Given the description of an element on the screen output the (x, y) to click on. 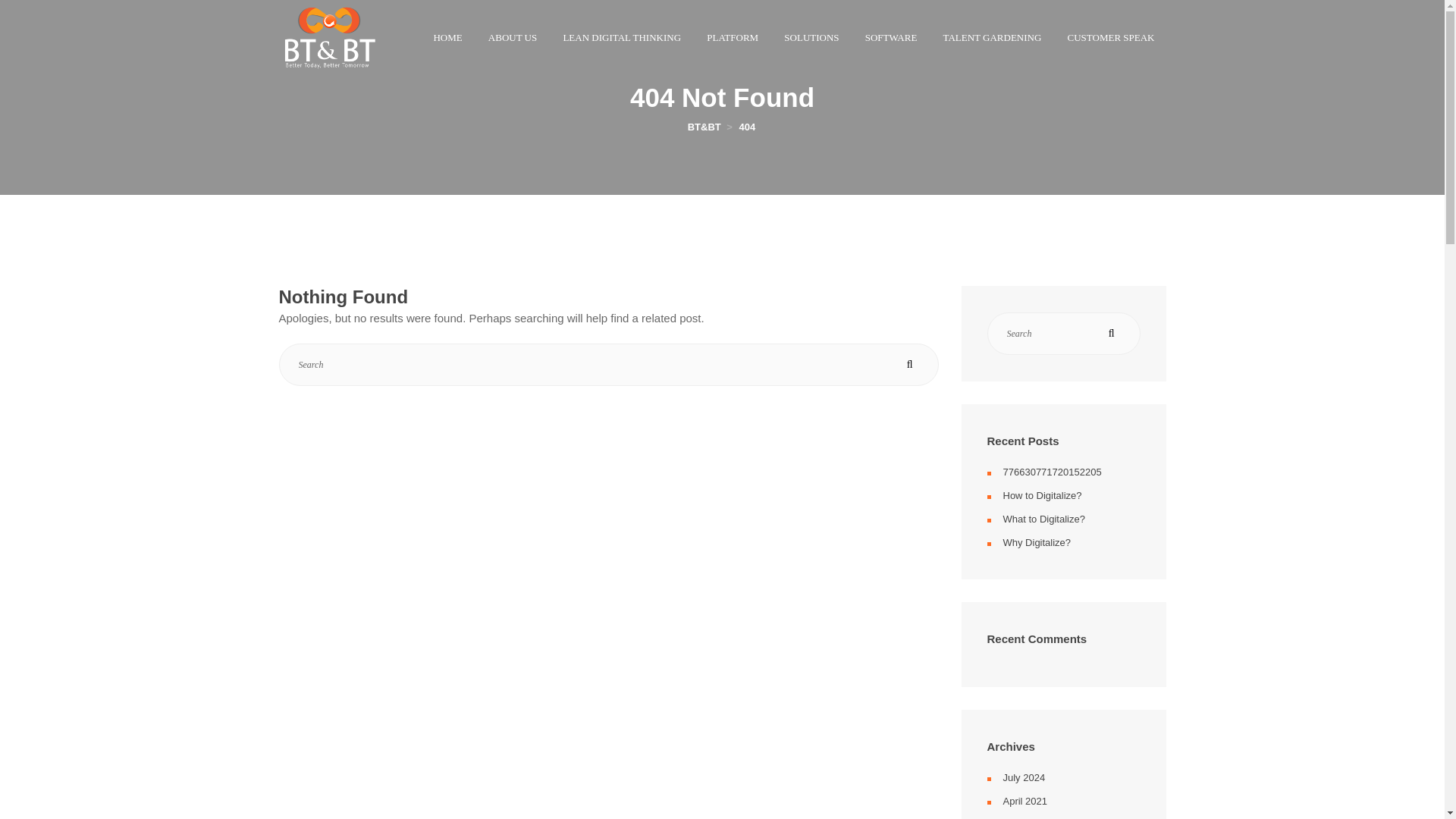
CUSTOMER SPEAK (1111, 37)
How to Digitalize? (1042, 495)
LEAN DIGITAL THINKING (622, 37)
April 2021 (1024, 799)
776630771720152205 (1051, 471)
July 2024 (1024, 777)
TALENT GARDENING (991, 37)
Why Digitalize? (1036, 542)
ABOUT US (512, 37)
What to Digitalize? (1043, 518)
SOLUTIONS (811, 37)
PLATFORM (732, 37)
SOFTWARE (890, 37)
